Given the description of an element on the screen output the (x, y) to click on. 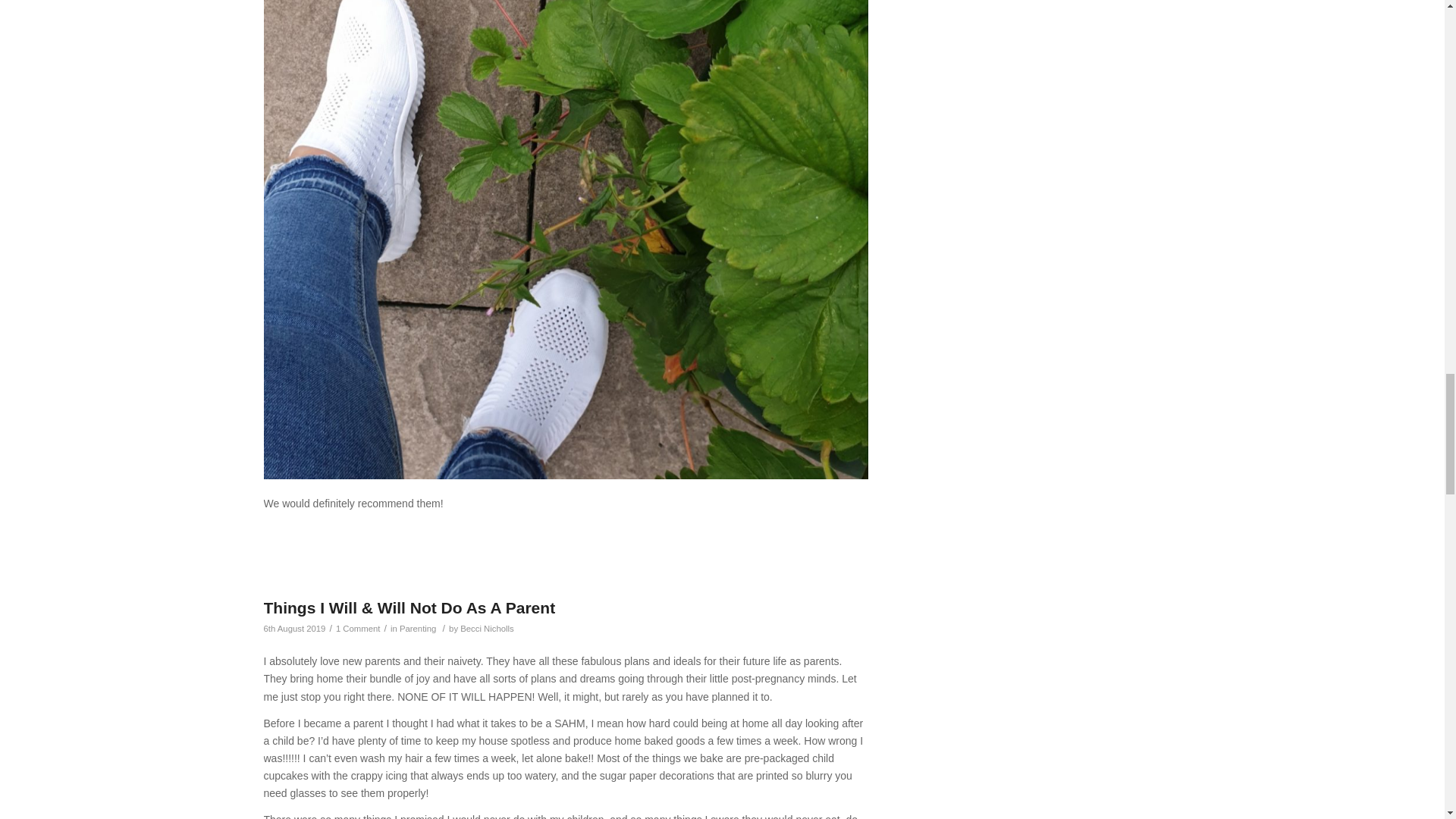
Becci Nicholls (486, 628)
1 Comment (358, 628)
Posts by Becci Nicholls (486, 628)
Parenting (417, 628)
